Given the description of an element on the screen output the (x, y) to click on. 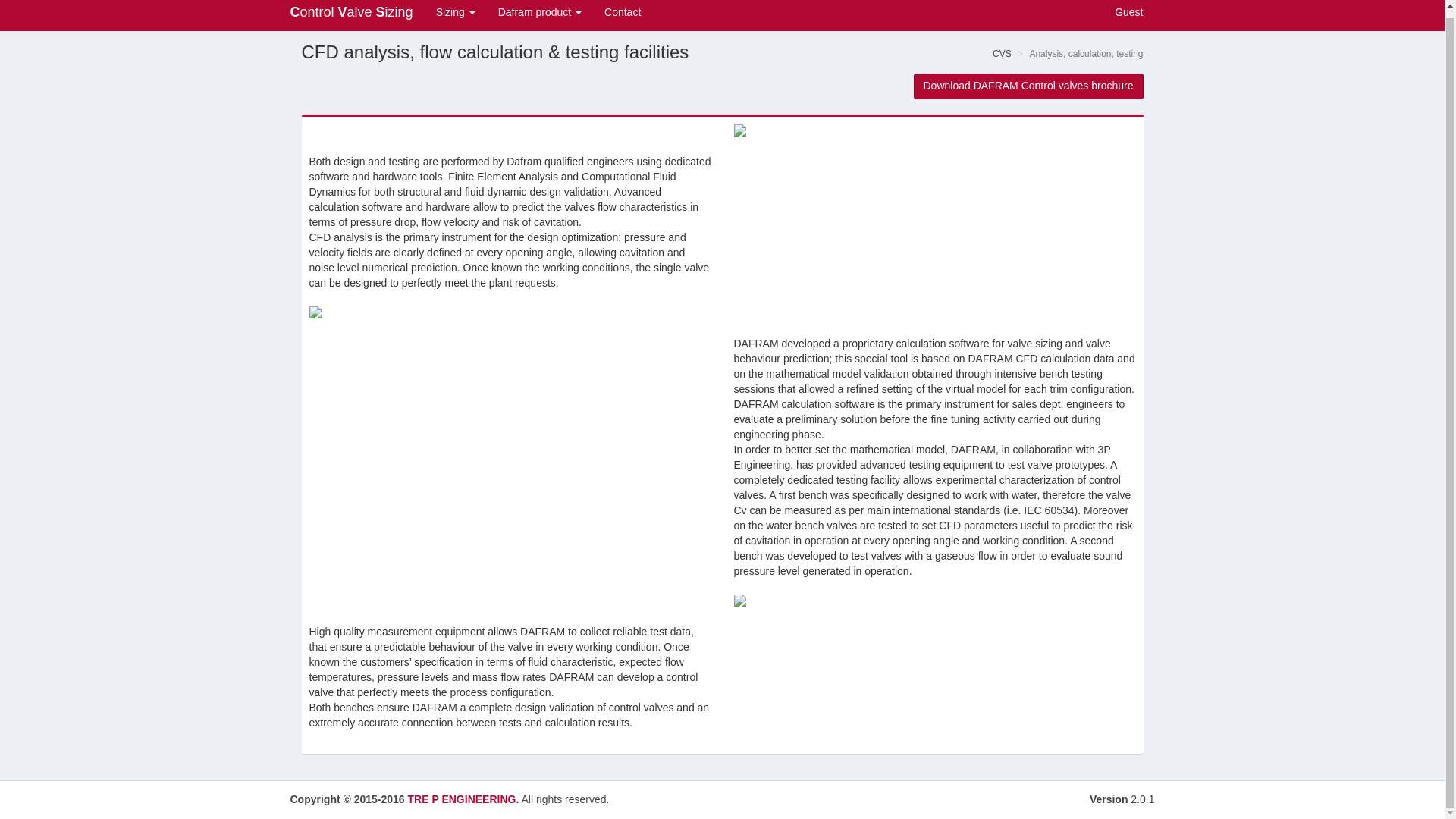
CVS (1001, 53)
Contact (622, 15)
TRE P ENGINEERING (461, 799)
Sizing (455, 15)
Download DAFRAM Control valves brochure (1027, 86)
Guest (1126, 15)
Dafram product (539, 15)
Control Valve Sizing (352, 15)
